Given the description of an element on the screen output the (x, y) to click on. 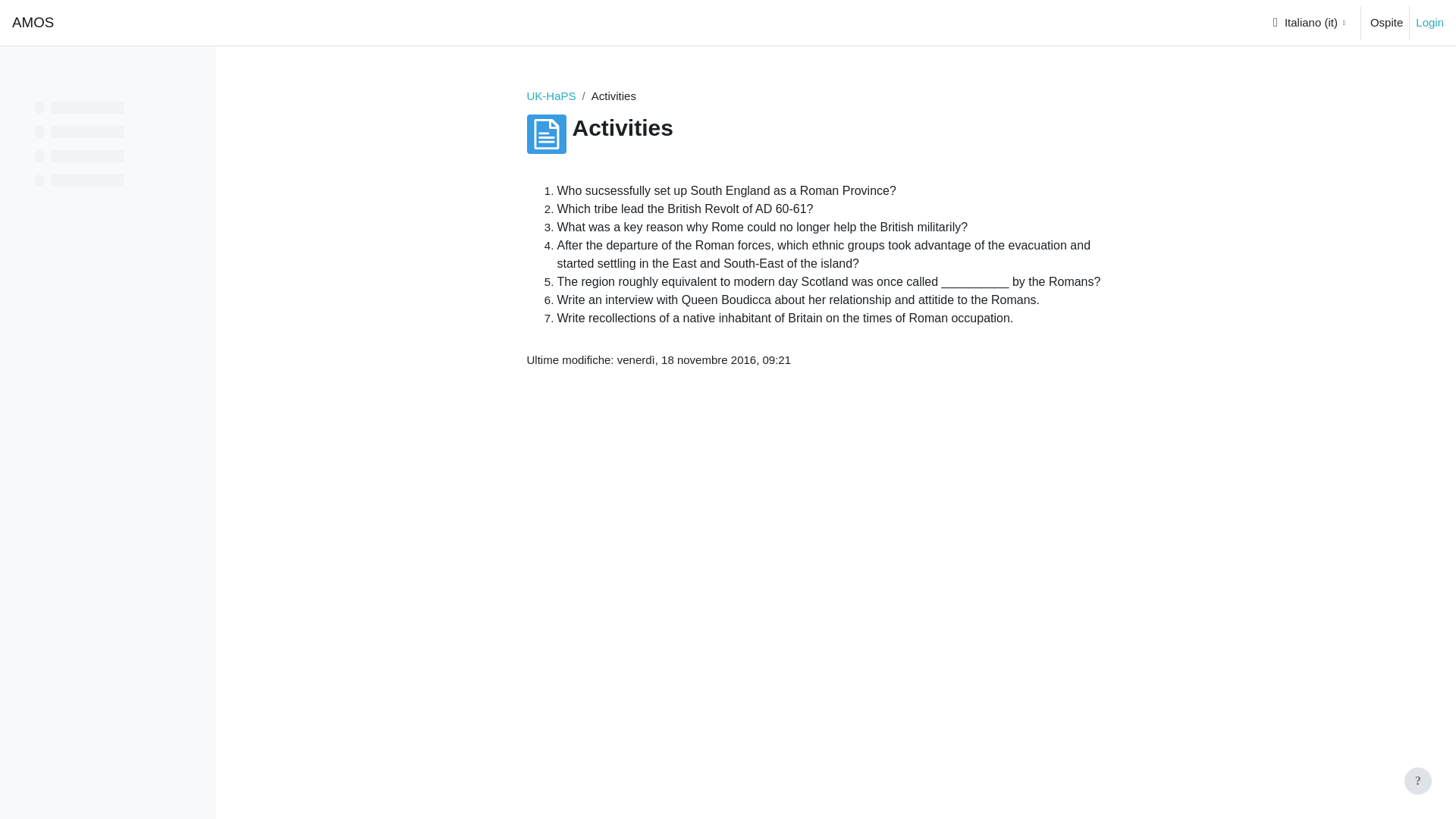
UK-HaPS (550, 95)
AMOS (32, 22)
Login (1429, 22)
United Kingdom: History and Political System (550, 95)
